Given the description of an element on the screen output the (x, y) to click on. 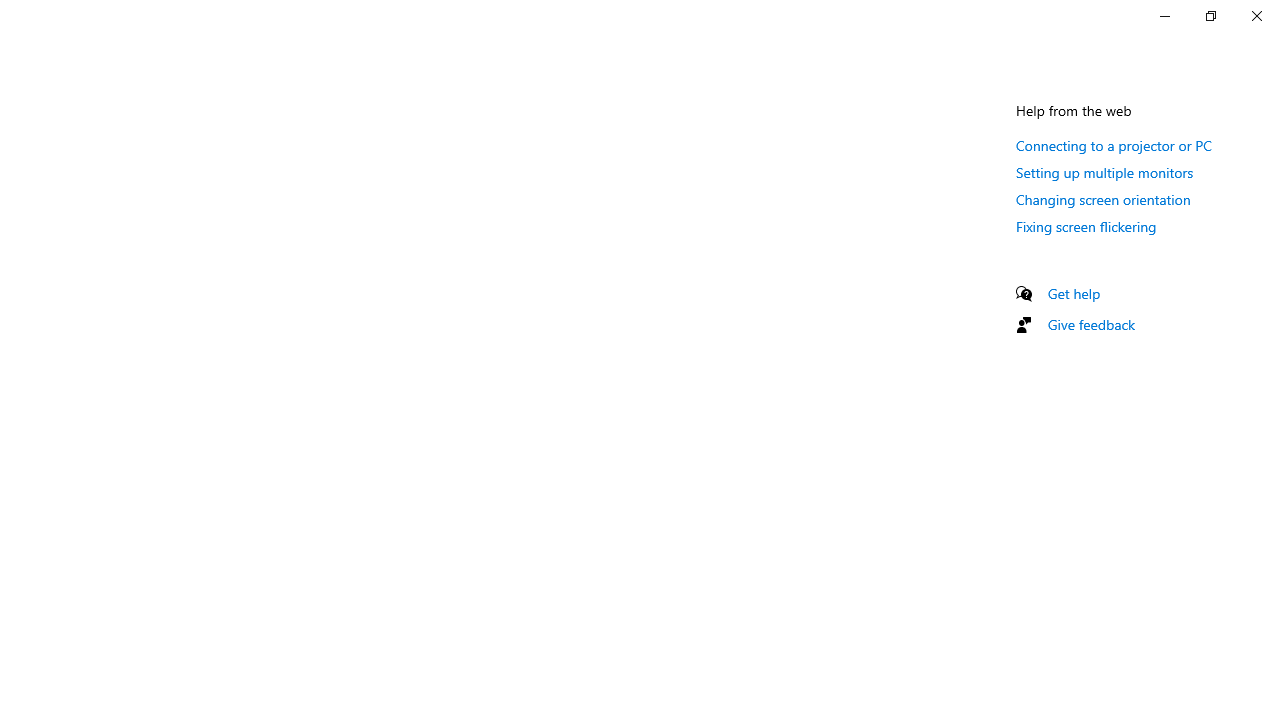
Fixing screen flickering (1086, 226)
Restore Settings (1210, 15)
Give feedback (1091, 324)
Minimize Settings (1164, 15)
Changing screen orientation (1103, 199)
Connecting to a projector or PC (1114, 145)
Get help (1074, 293)
Setting up multiple monitors (1105, 172)
Close Settings (1256, 15)
